Given the description of an element on the screen output the (x, y) to click on. 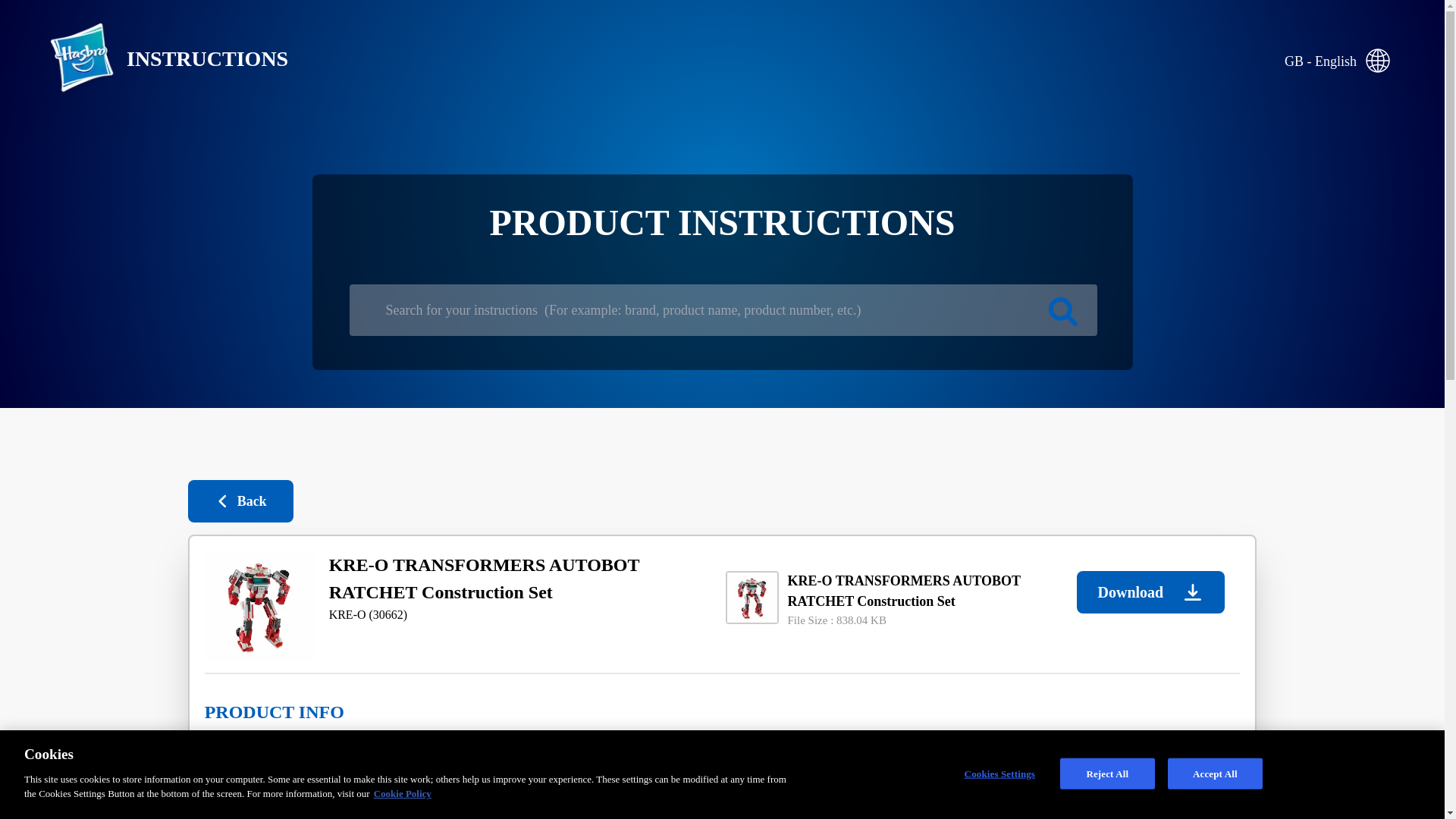
Back (240, 500)
Download (1150, 591)
INSTRUCTIONS (156, 59)
